Given the description of an element on the screen output the (x, y) to click on. 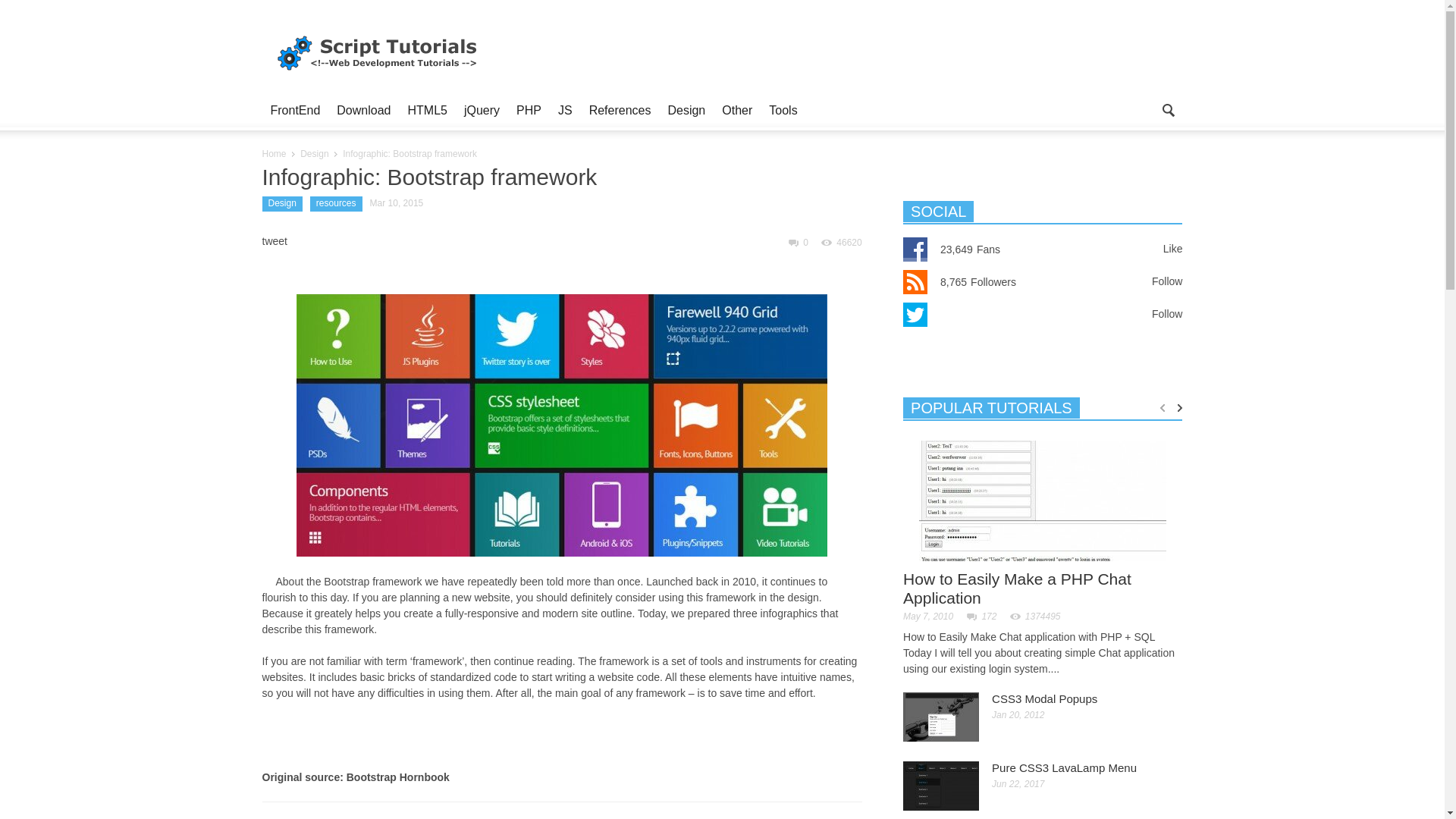
Download (363, 110)
FrontEnd (295, 110)
jQuery (481, 110)
PHP (529, 110)
HTML5 (426, 110)
